Given the description of an element on the screen output the (x, y) to click on. 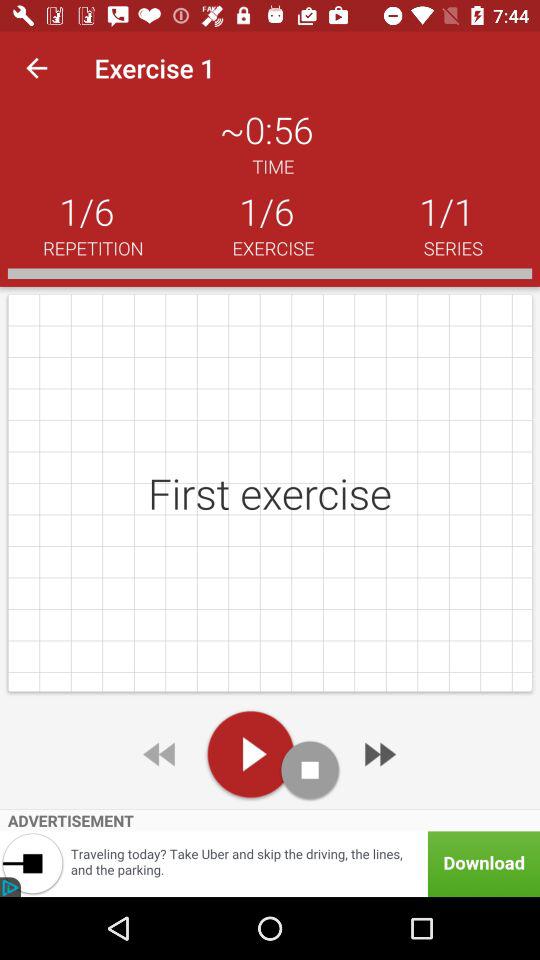
back (161, 754)
